Given the description of an element on the screen output the (x, y) to click on. 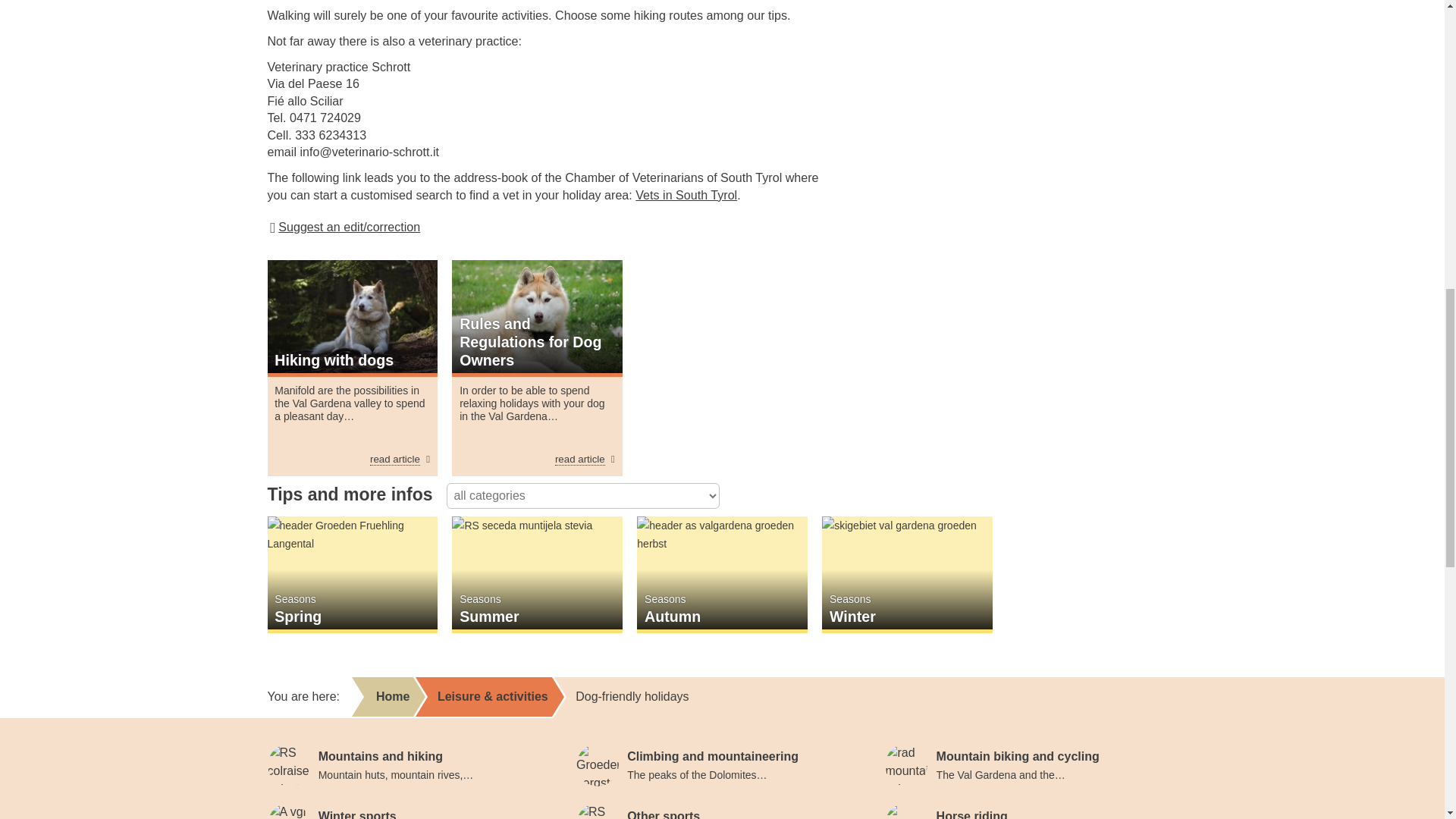
read article (399, 459)
Vets in South Tyrol (685, 194)
Wandern mit Hund - Valgardena (351, 316)
Rules and Regulations for Dog Owners - read article (584, 459)
Hiking with dogs - read article (399, 459)
header Groeden Fruehling Langental (351, 534)
read article (584, 459)
